Given the description of an element on the screen output the (x, y) to click on. 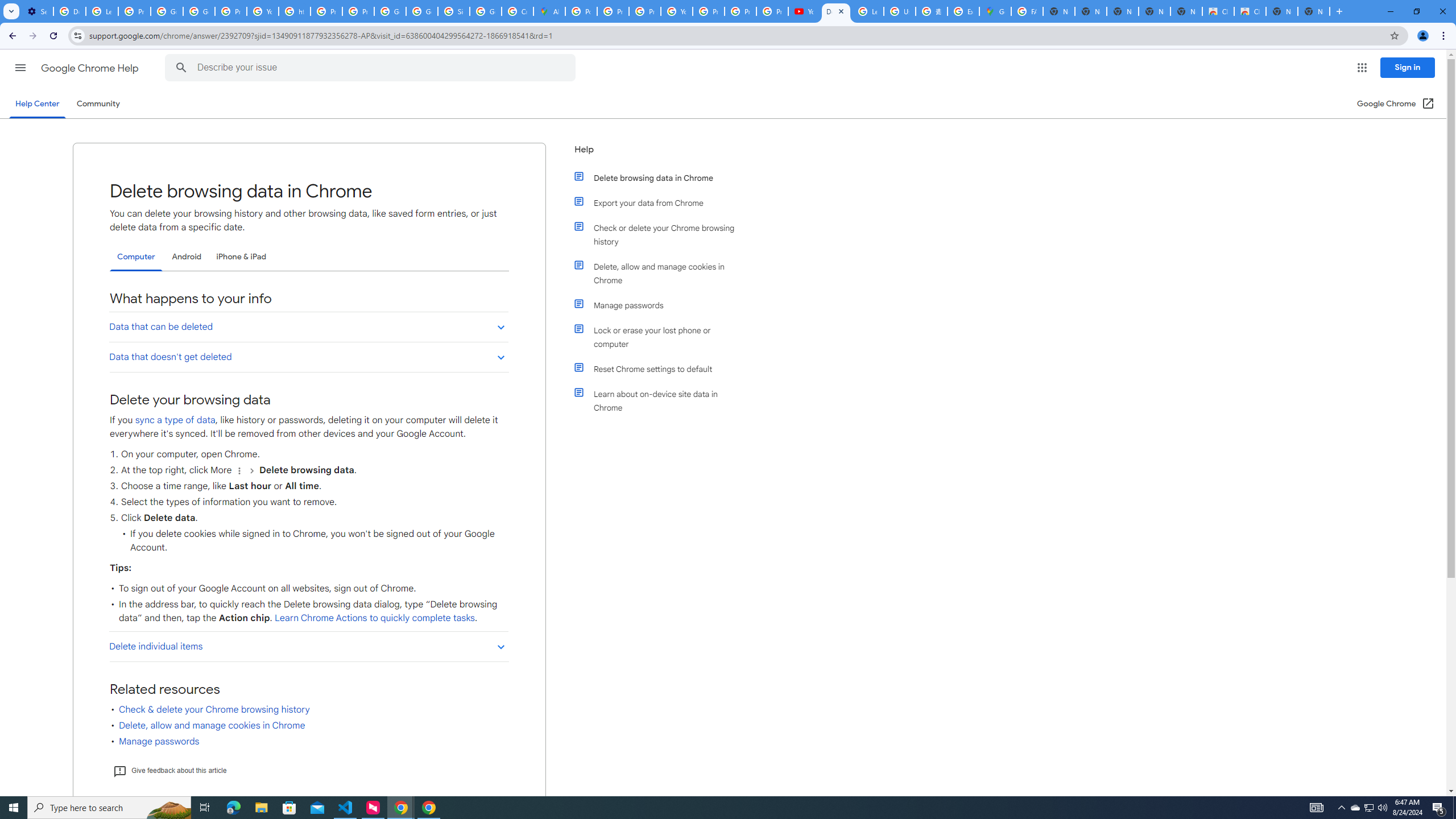
Main menu (20, 67)
Google Chrome Help (90, 68)
Sign in - Google Accounts (453, 11)
iPhone & iPad (240, 256)
Learn about on-device site data in Chrome (661, 400)
